Given the description of an element on the screen output the (x, y) to click on. 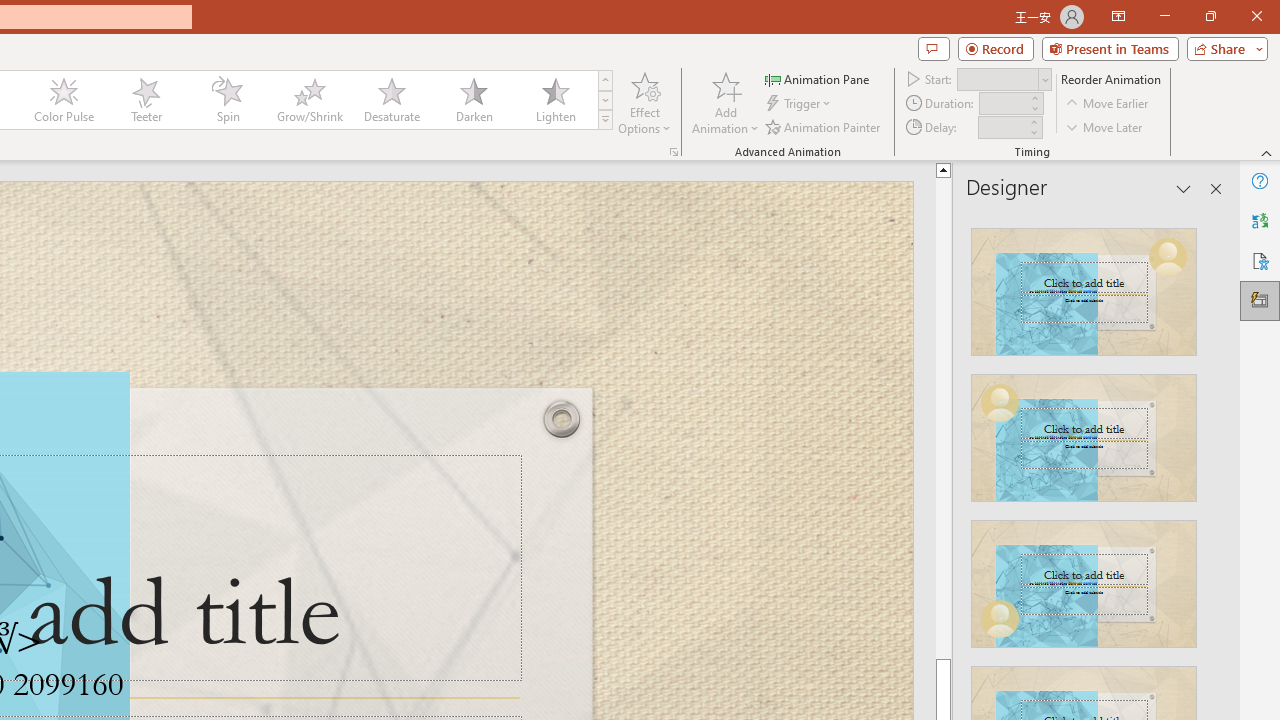
Trigger (799, 103)
Animation Delay (1002, 127)
Darken (473, 100)
More Options... (673, 151)
Color Pulse (63, 100)
